Given the description of an element on the screen output the (x, y) to click on. 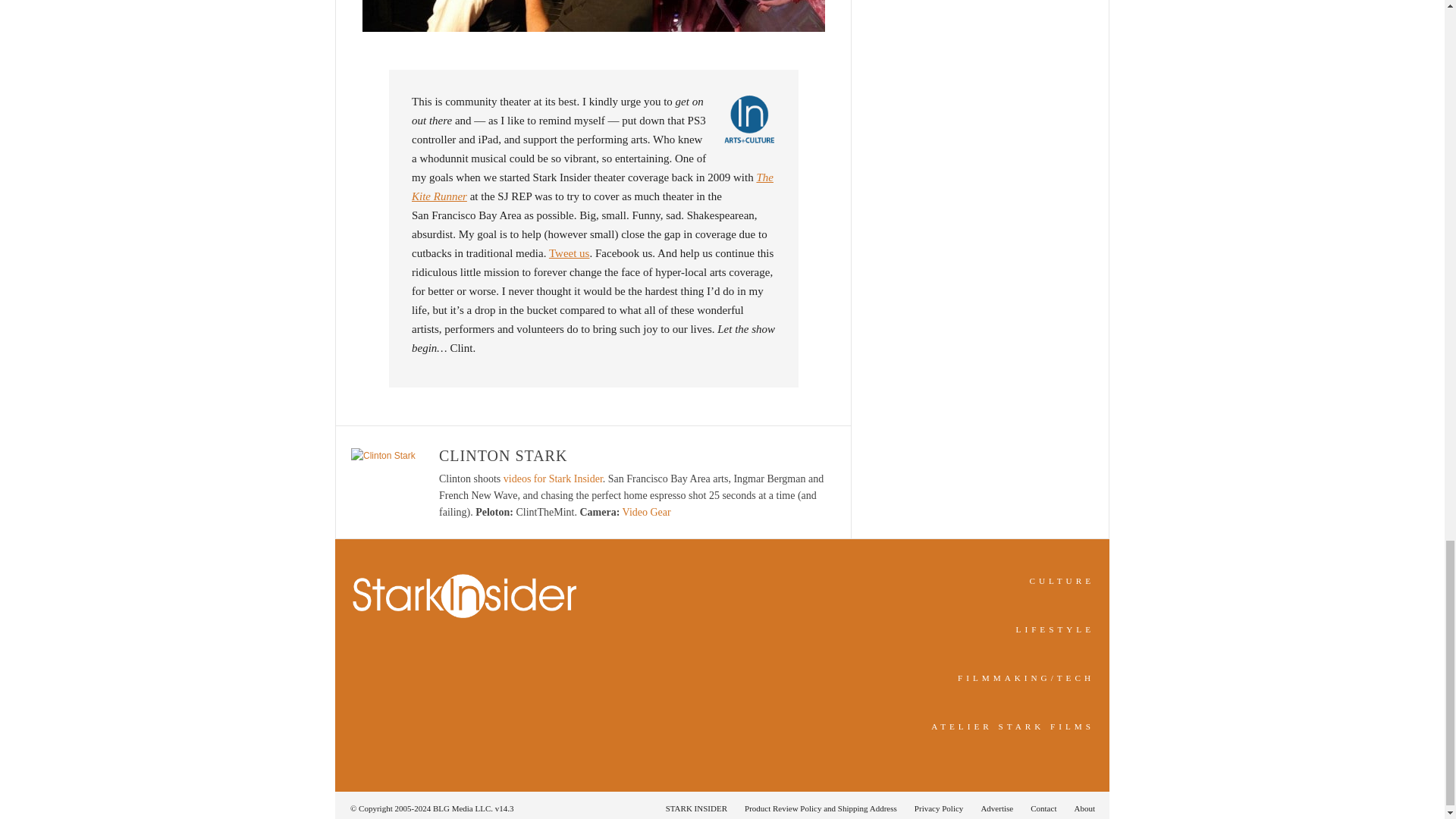
STARK INSIDER (696, 808)
Broadway Musical Curtains - Foothill Music Theatre (593, 15)
The Kite Runner (592, 186)
LIFESTYLE (1055, 628)
Contact (1043, 808)
Tweet us (568, 253)
videos for Stark Insider (552, 478)
Video Gear (647, 511)
Advertise (996, 808)
CLINTON STARK (503, 455)
